Given the description of an element on the screen output the (x, y) to click on. 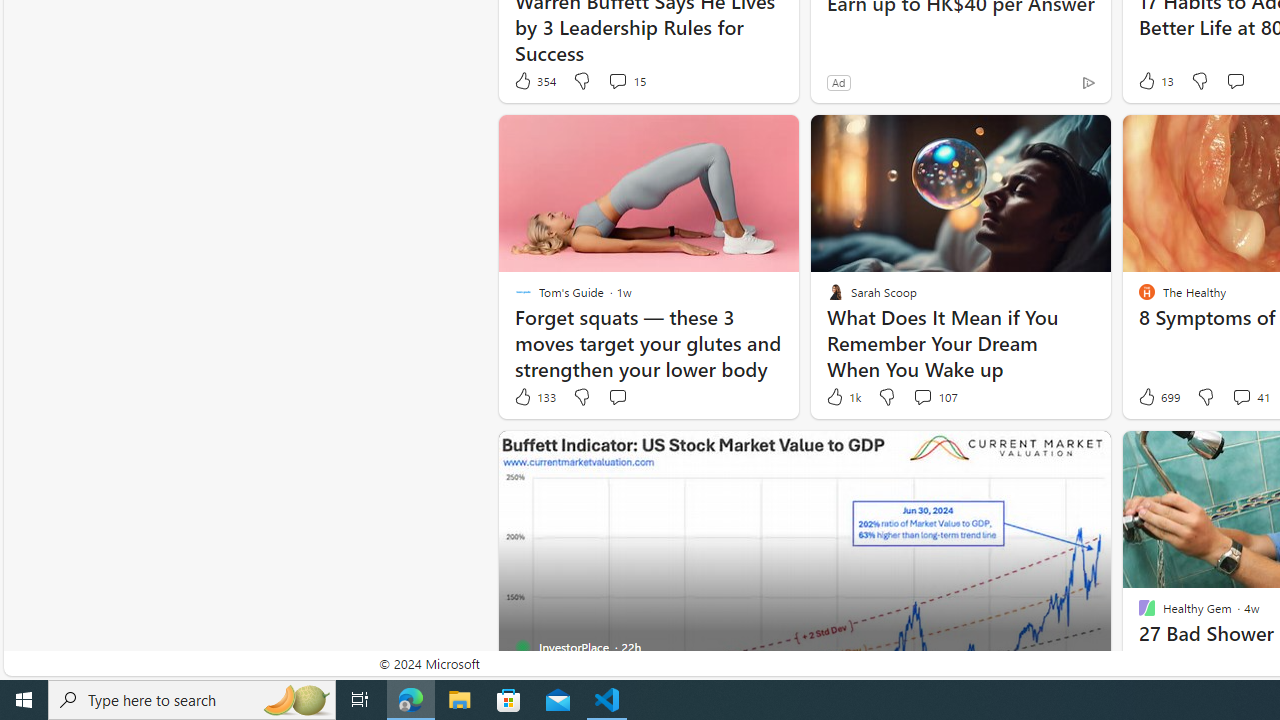
354 Like (534, 80)
View comments 15 Comment (626, 80)
699 Like (1157, 397)
Hide this story (1050, 454)
13 Like (1154, 80)
View comments 107 Comment (934, 397)
1k Like (842, 397)
View comments 107 Comment (922, 396)
133 Like (534, 397)
